Given the description of an element on the screen output the (x, y) to click on. 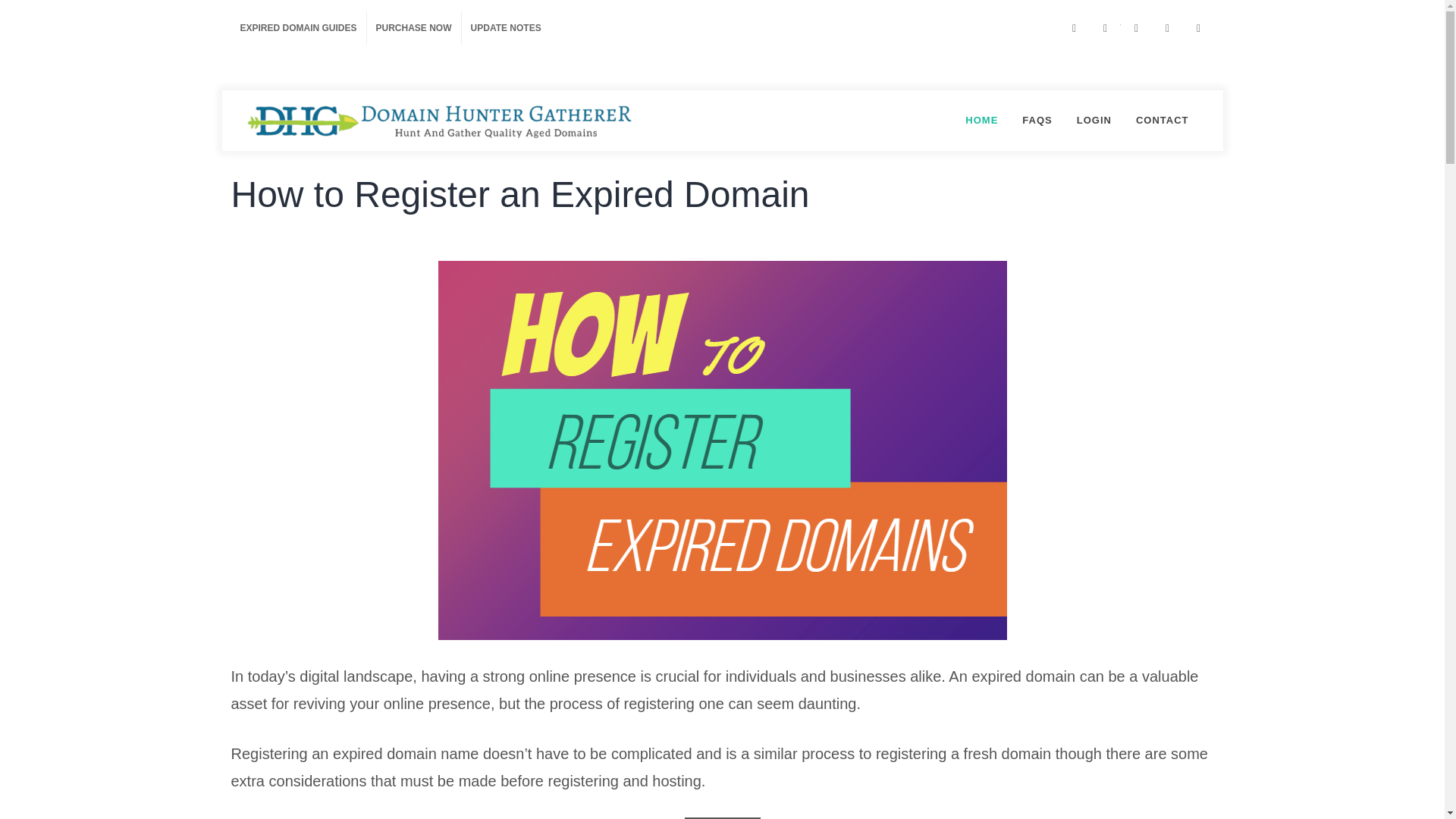
LOGIN (1093, 120)
UPDATE NOTES (505, 28)
HOME (981, 120)
EXPIRED DOMAIN GUIDES (297, 28)
PURCHASE NOW (413, 28)
CONTACT (1161, 120)
